Given the description of an element on the screen output the (x, y) to click on. 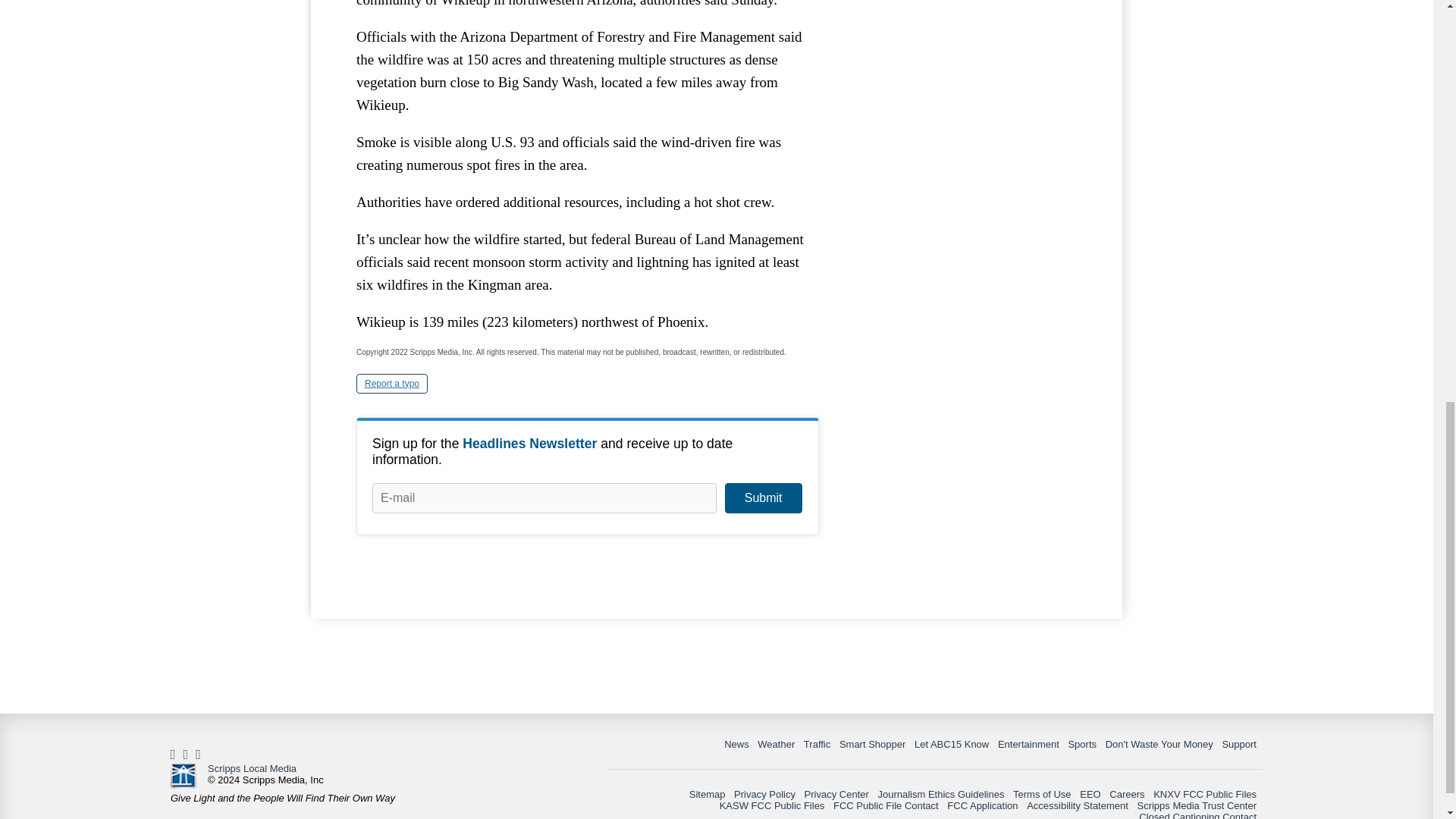
Submit (763, 498)
